Given the description of an element on the screen output the (x, y) to click on. 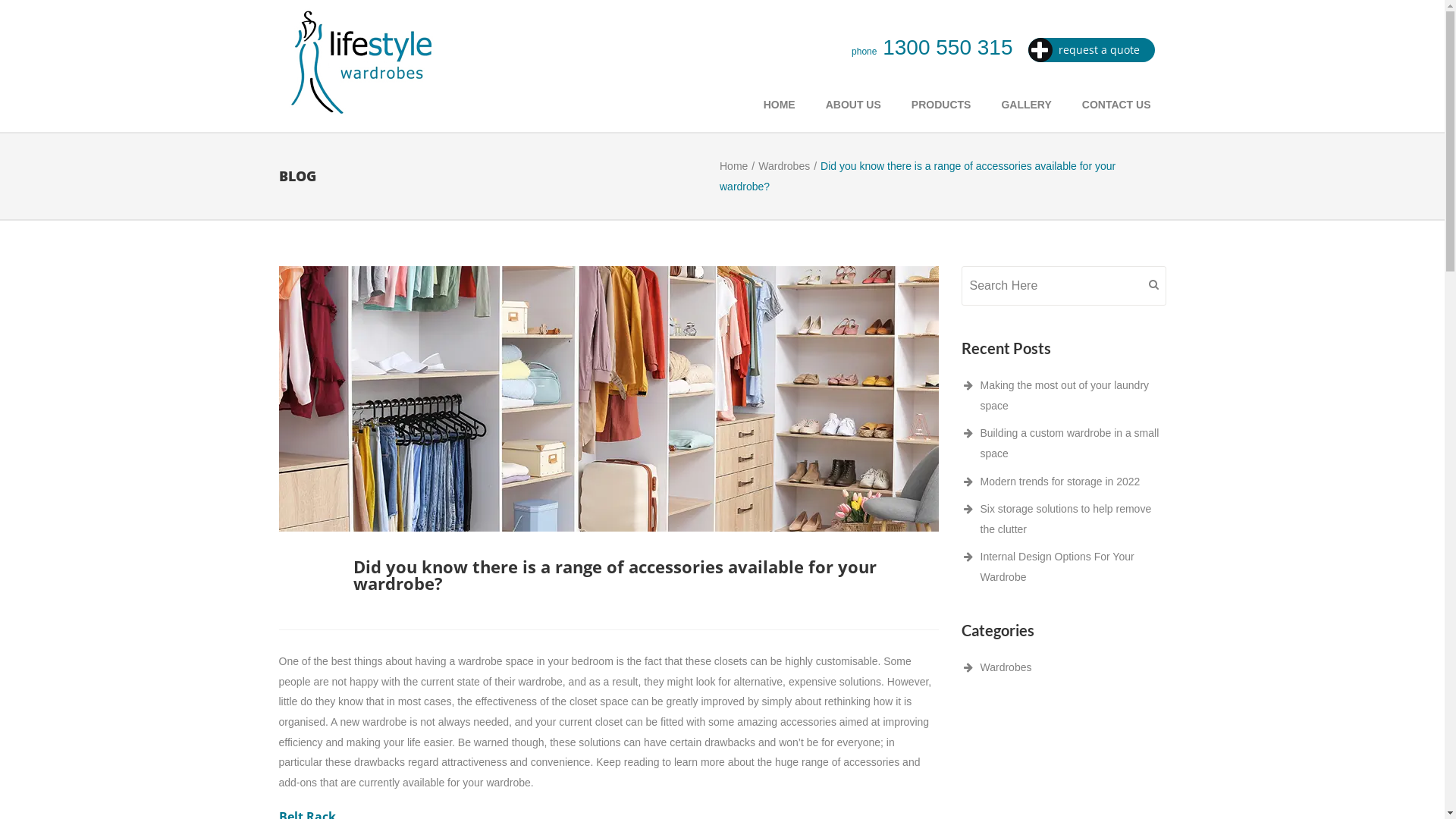
ABOUT US Element type: text (853, 104)
request a quote Element type: text (1091, 49)
Wardrobes Element type: text (783, 166)
PRODUCTS Element type: text (941, 104)
Home Element type: text (733, 166)
CONTACT US Element type: text (1116, 104)
Modern trends for storage in 2022 Element type: text (1059, 481)
Wardrobes Element type: text (1005, 667)
Six storage solutions to help remove the clutter Element type: text (1065, 518)
Internal Design Options For Your Wardrobe Element type: text (1056, 566)
HOME Element type: text (779, 104)
wardrobe space in your bedroom Element type: text (535, 661)
GALLERY Element type: text (1025, 104)
Making the most out of your laundry space Element type: text (1063, 395)
Building a custom wardrobe in a small space Element type: text (1068, 442)
